Given the description of an element on the screen output the (x, y) to click on. 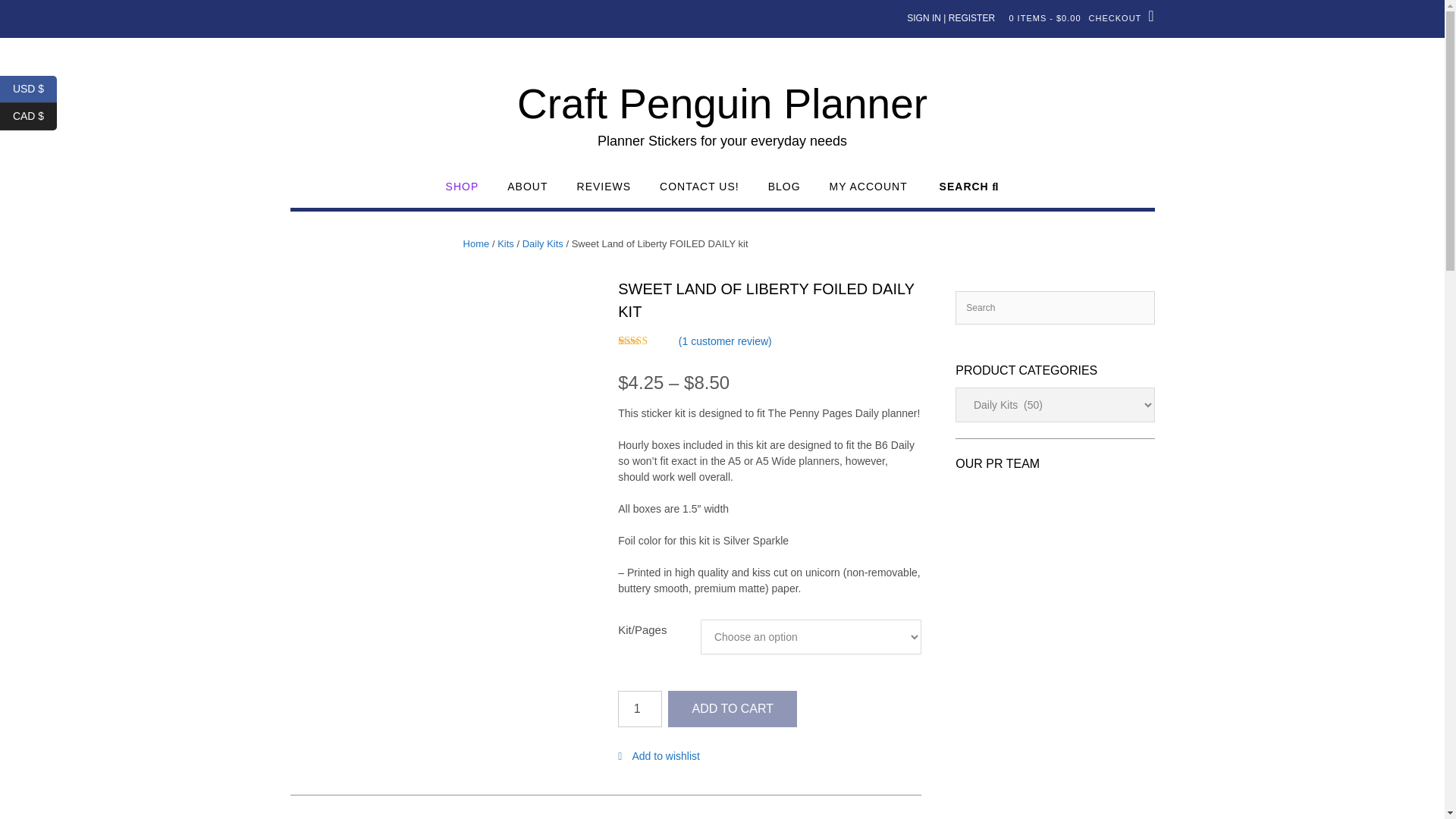
1 (639, 709)
SHOP (462, 193)
Craft Penguin Planner (721, 104)
